Given the description of an element on the screen output the (x, y) to click on. 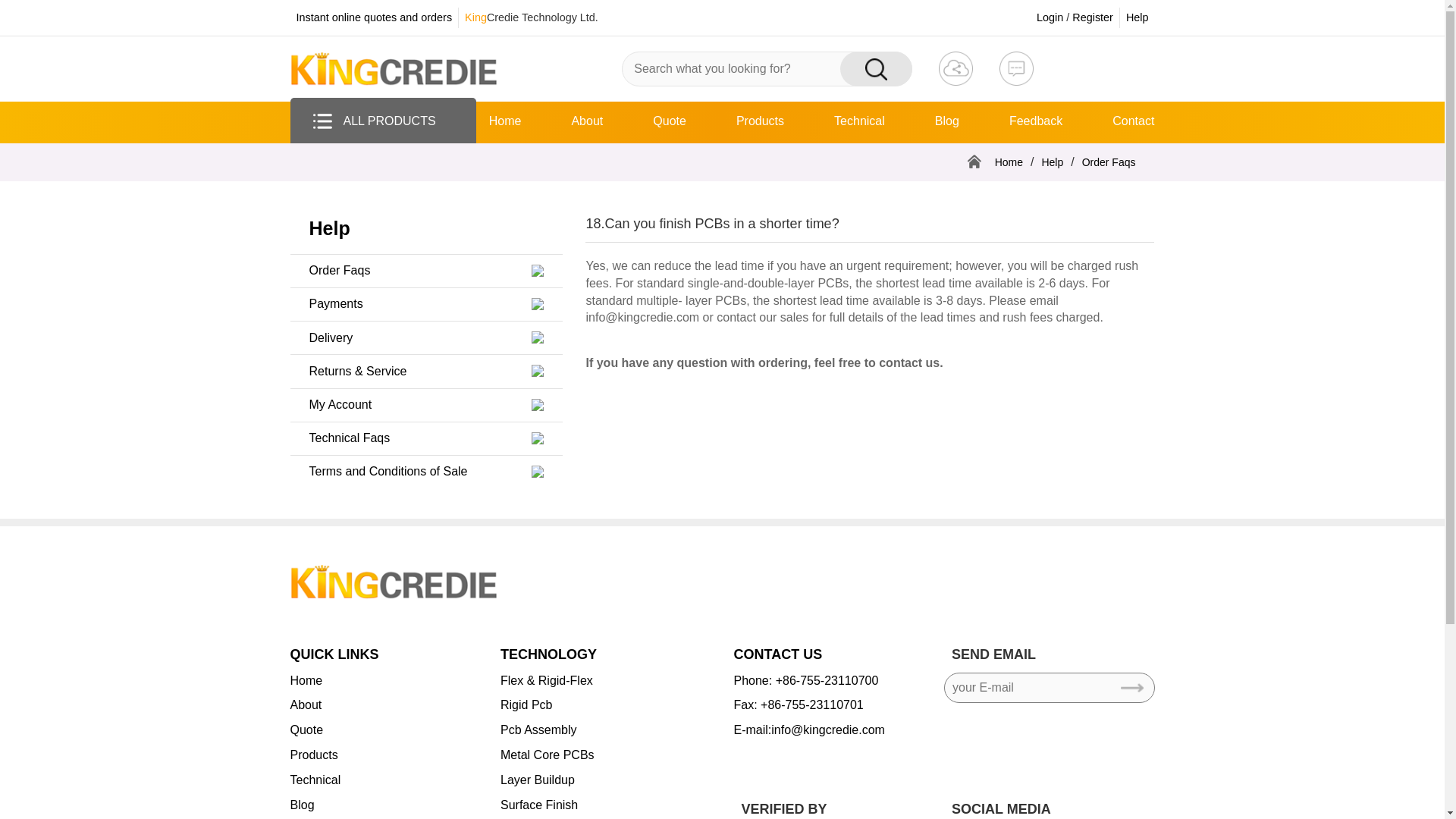
Order Faqs (1108, 161)
Register (1092, 17)
About (586, 121)
Contact (1133, 121)
Instant online quotes and orders (373, 17)
Feedback (1035, 121)
Login (1049, 17)
Home (505, 121)
Quote (668, 121)
Order Faqs (339, 271)
